Given the description of an element on the screen output the (x, y) to click on. 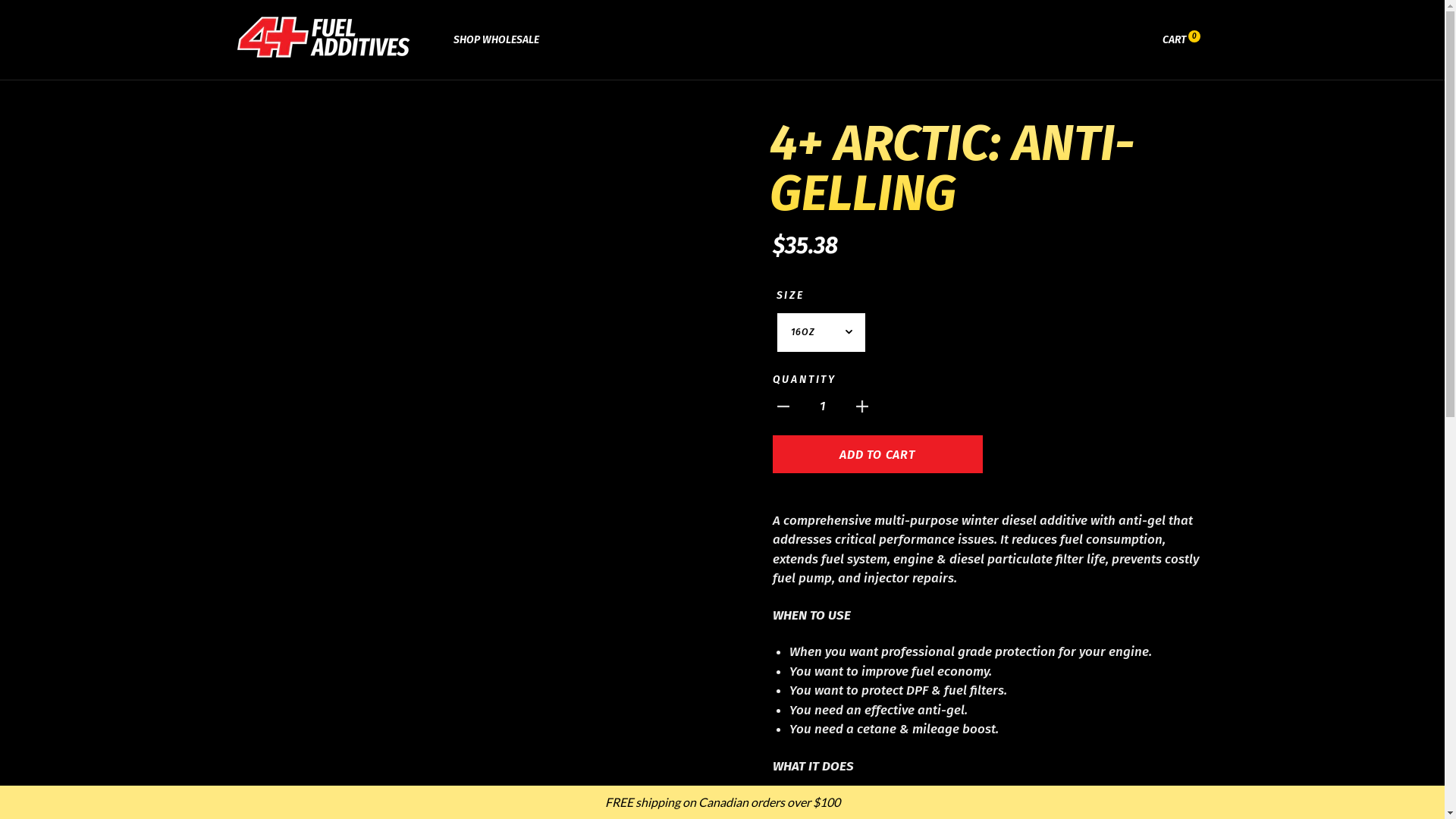
SHOP WHOLESALE Element type: text (496, 39)
ADD TO CART Element type: text (876, 454)
CART 0 Element type: text (1180, 39)
Increase quantity by 1 Element type: hover (861, 405)
Decrease quantity by 1 Element type: hover (782, 405)
